Given the description of an element on the screen output the (x, y) to click on. 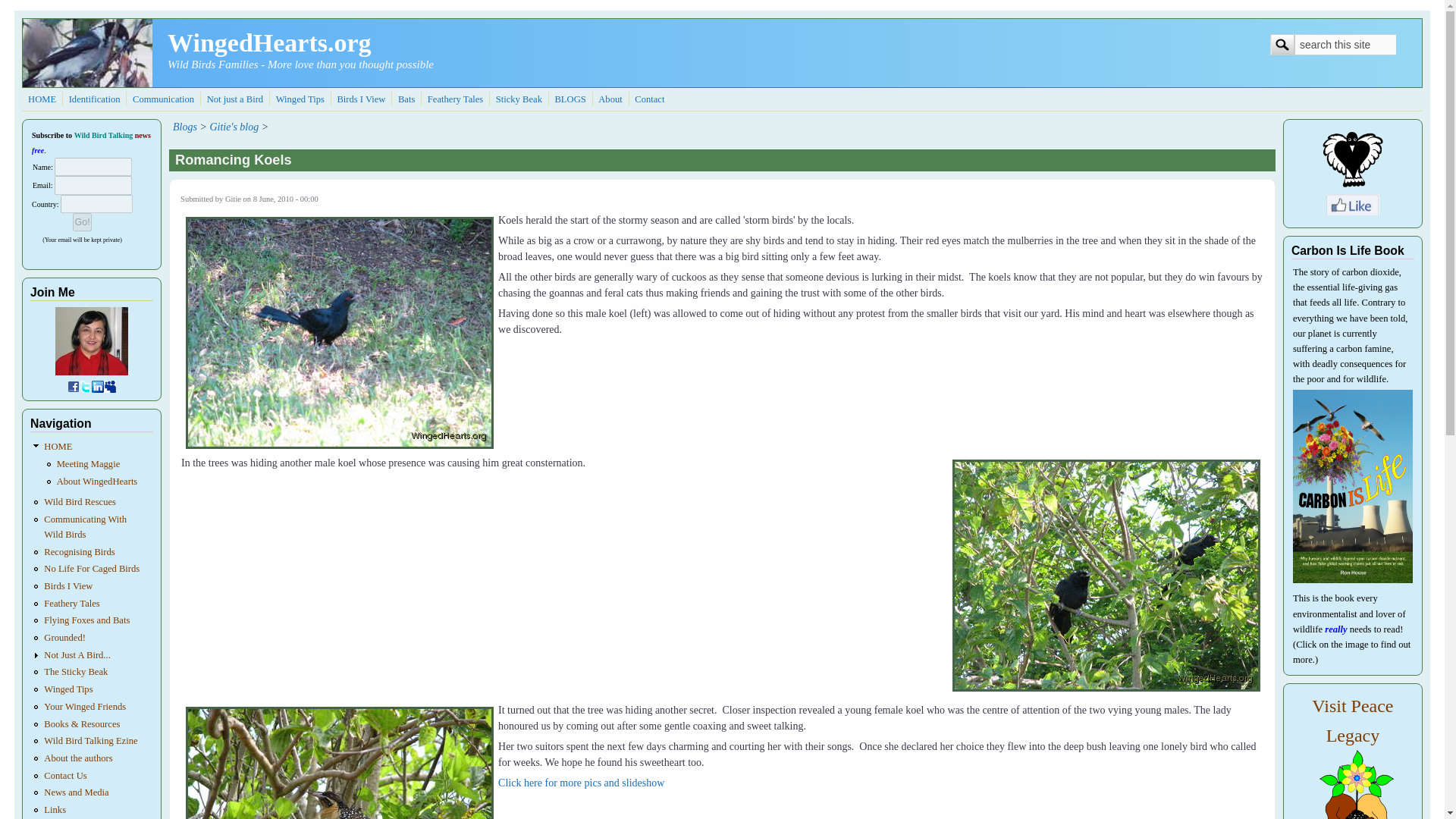
Gitie's blog (234, 126)
search this site (1345, 44)
Blogs (569, 99)
Feathery Tales (455, 99)
Home (269, 42)
Sticky Beak (518, 99)
HOME (41, 99)
Home Page (41, 99)
Go! (81, 221)
Things Maggie and his friends have taught us about birds (300, 99)
Contact (648, 99)
About The authors and wingedhearts (609, 99)
Birds I View (360, 99)
